Given the description of an element on the screen output the (x, y) to click on. 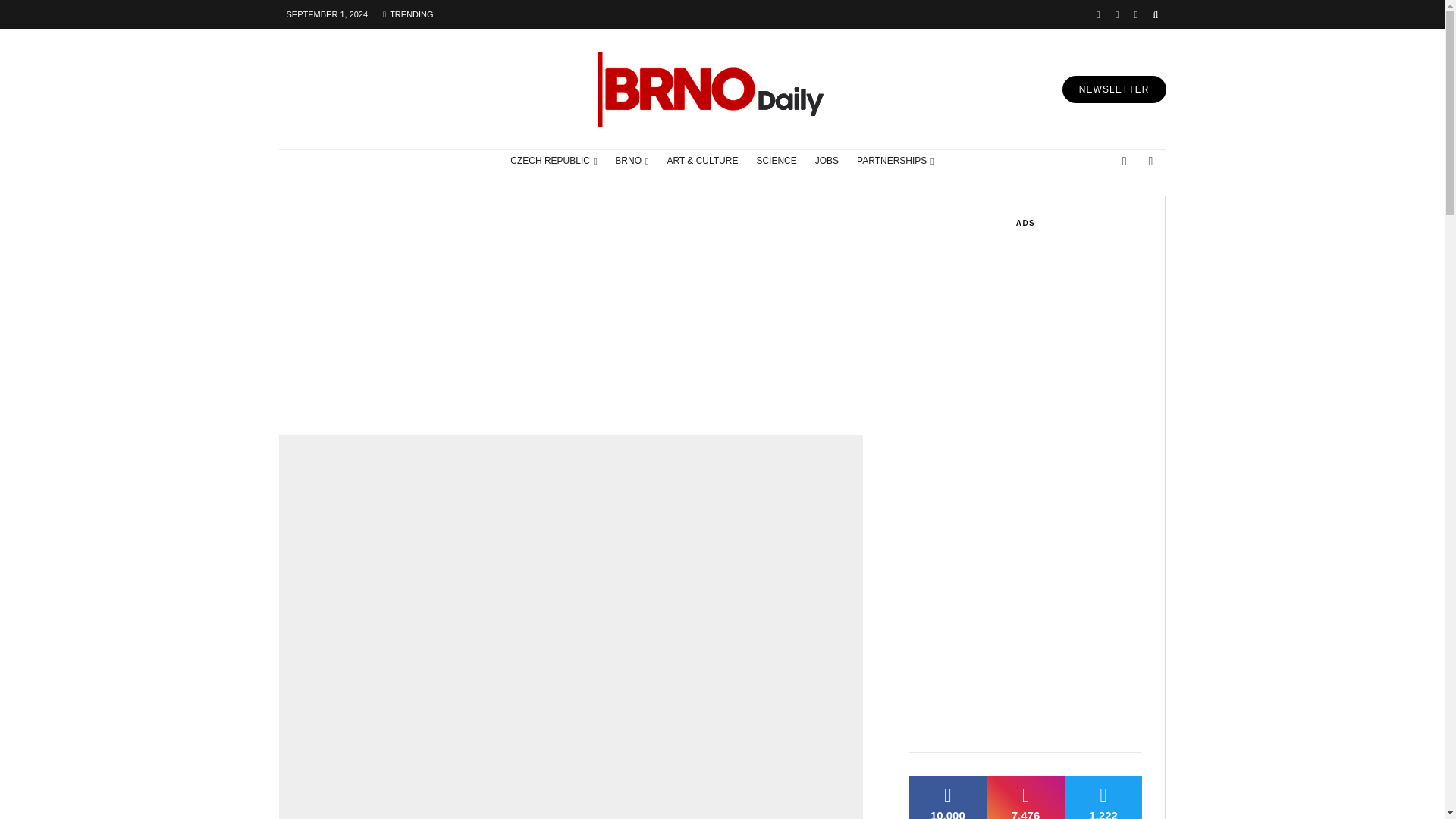
TRENDING (408, 14)
BRNO (631, 160)
CZECH REPUBLIC (552, 160)
NEWSLETTER (1114, 89)
